Given the description of an element on the screen output the (x, y) to click on. 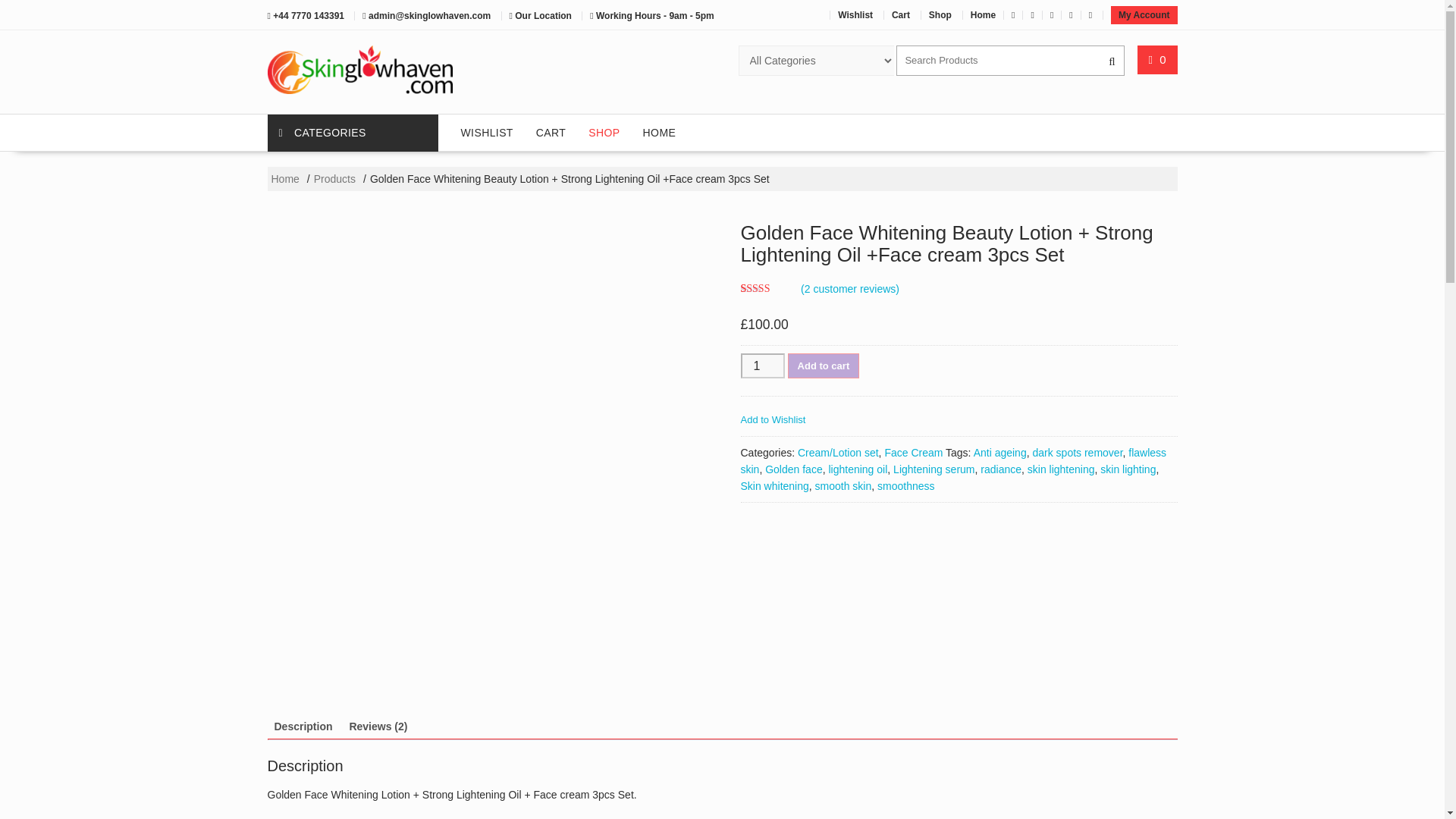
Home (284, 178)
SHOP (603, 132)
WISHLIST (486, 132)
Anti ageing (1000, 452)
CATEGORIES (352, 132)
Face Cream (912, 452)
0 (1157, 59)
Wishlist (855, 14)
Products (334, 178)
1 (761, 365)
